Given the description of an element on the screen output the (x, y) to click on. 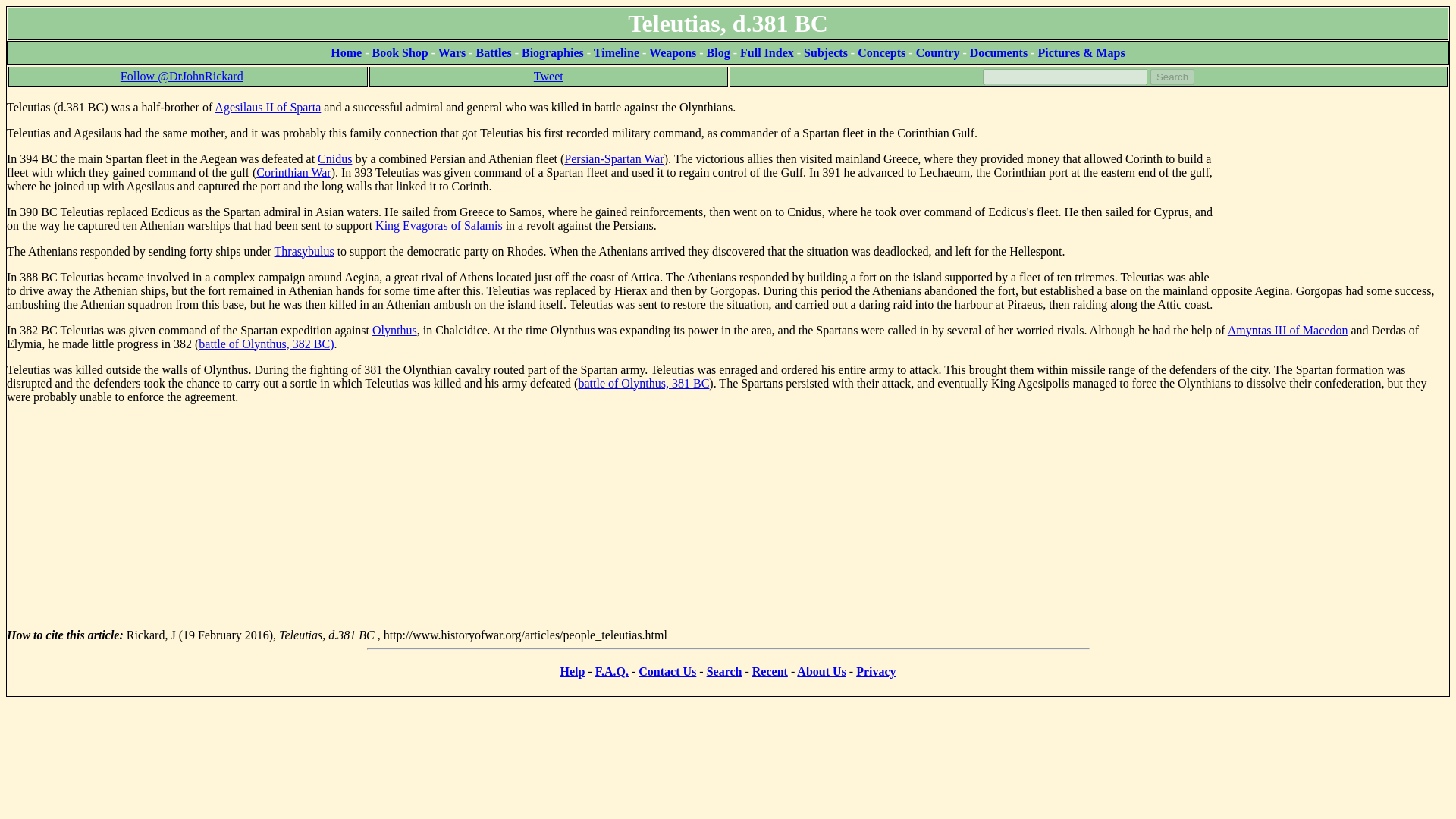
Search (1171, 76)
Full Index (767, 51)
Link to our blog (718, 51)
Thrasybulus (304, 250)
Index of biographies (552, 51)
Concepts (881, 51)
Search (1171, 76)
battle of Olynthus, 381 BC (643, 382)
Olynthus (394, 329)
Persian-Spartan War (613, 158)
Home (345, 51)
Corinthian War (293, 172)
Country (937, 51)
Weapons (672, 51)
Blog (718, 51)
